Given the description of an element on the screen output the (x, y) to click on. 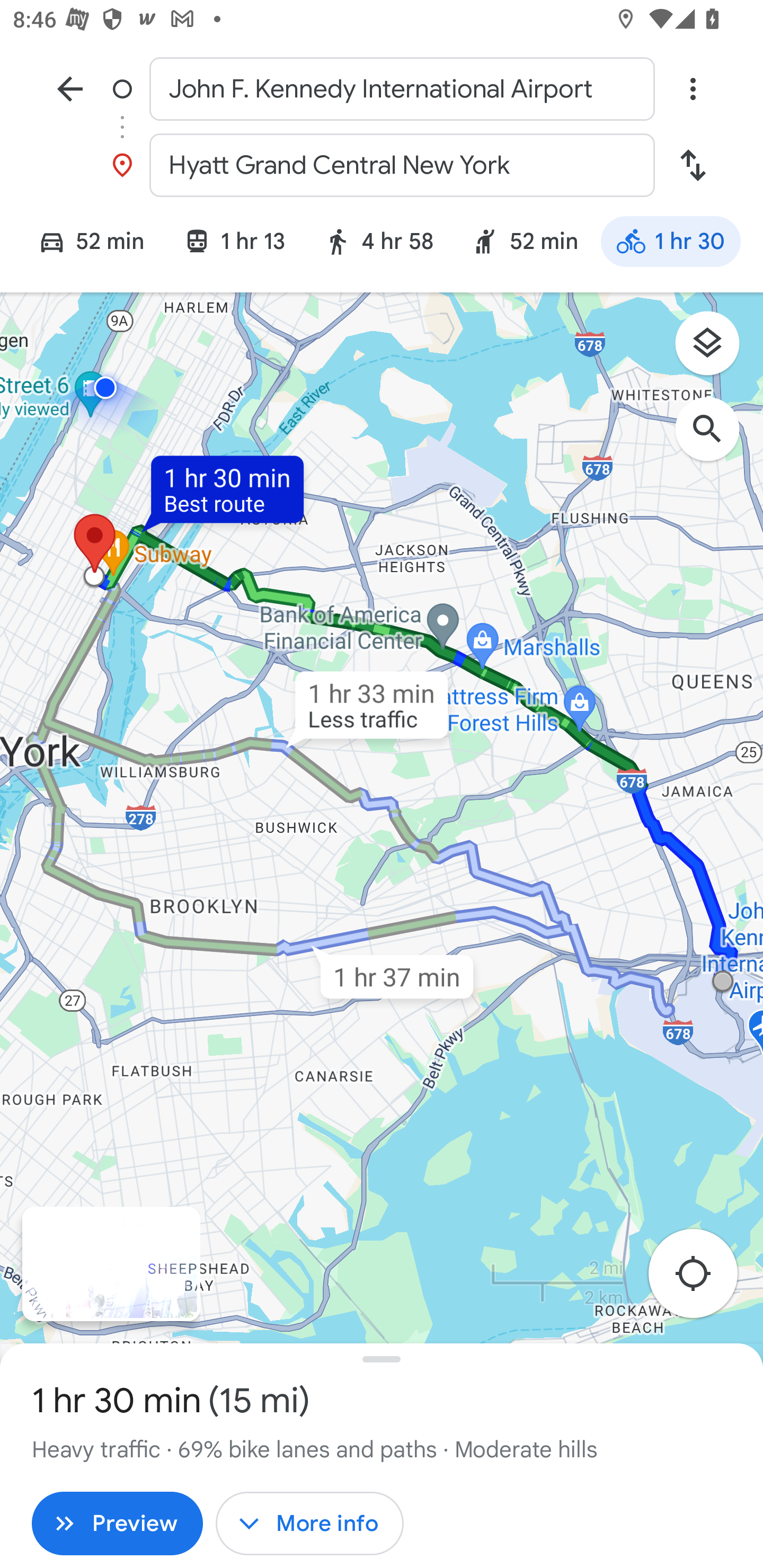
Navigate up (70, 88)
Overflow menu (692, 88)
Swap start and destination (692, 165)
Driving mode: 52 min 52 min (83, 244)
Transit mode: 1 hr 13 1 hr 13 (234, 244)
Walking mode: 4 hr 58 4 hr 58 (378, 244)
Ride service: 52 min 52 min (524, 244)
Layers (716, 349)
Search along route (716, 438)
Open Immersive View for routes (110, 1264)
Re-center map to your location (702, 1279)
More info More info More info (309, 1522)
